Given the description of an element on the screen output the (x, y) to click on. 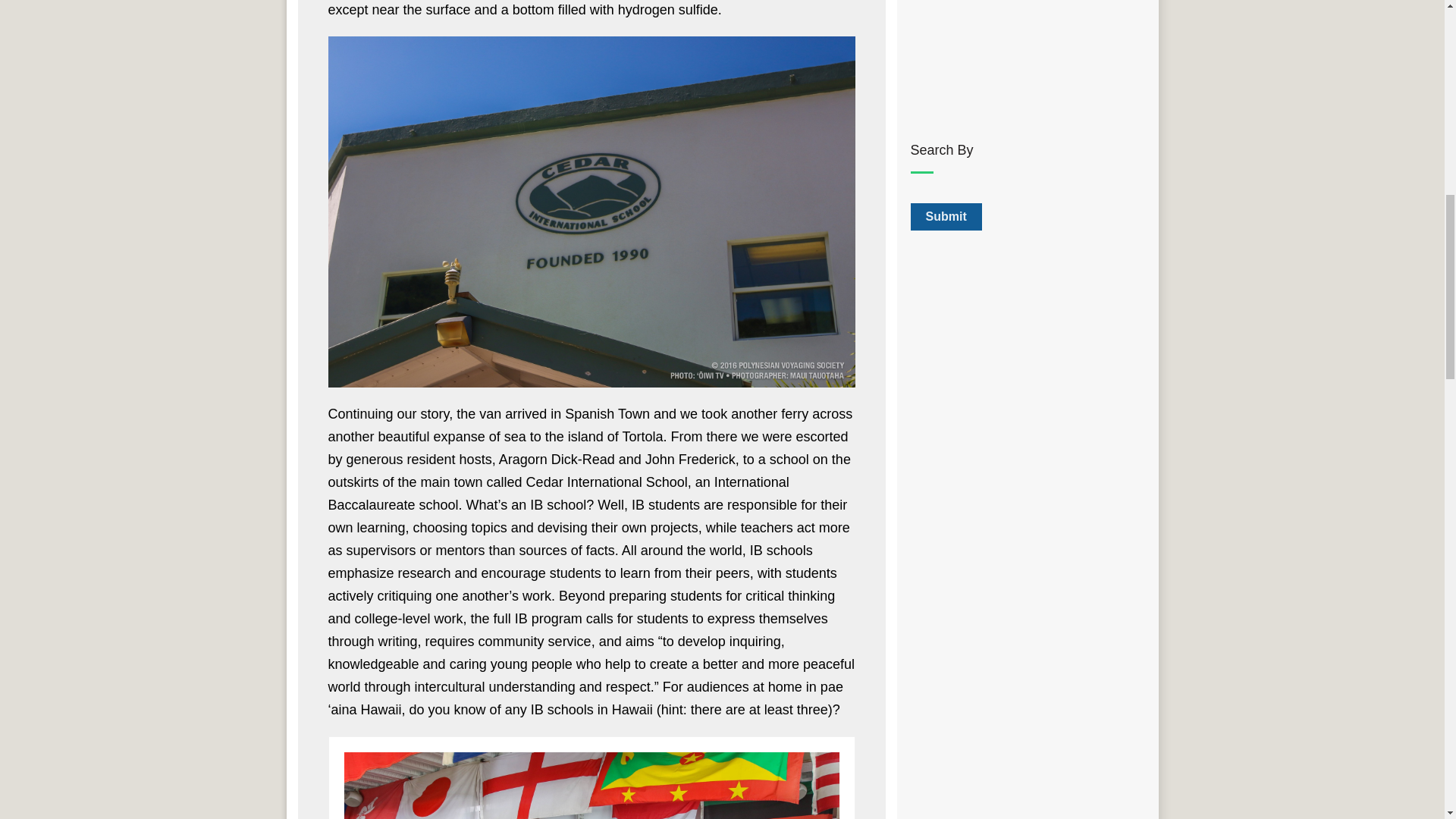
Submit (945, 216)
